Given the description of an element on the screen output the (x, y) to click on. 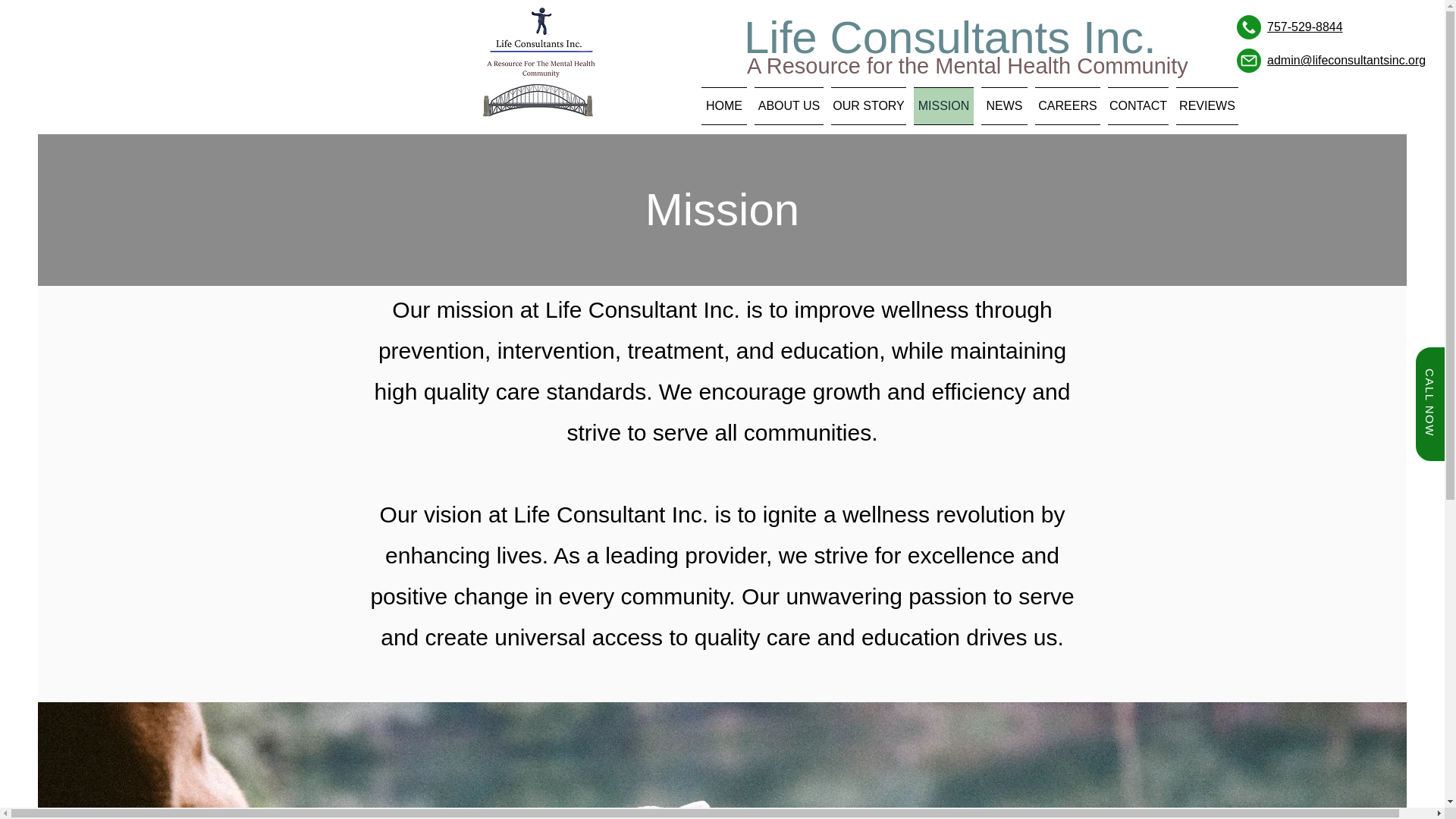
NEWS (1003, 105)
MISSION (943, 105)
OUR STORY (868, 105)
CONTACT (1137, 105)
CAREERS (1066, 105)
REVIEWS (1205, 105)
ABOUT US (789, 105)
757-529-8844 (1304, 26)
HOME (726, 105)
